Given the description of an element on the screen output the (x, y) to click on. 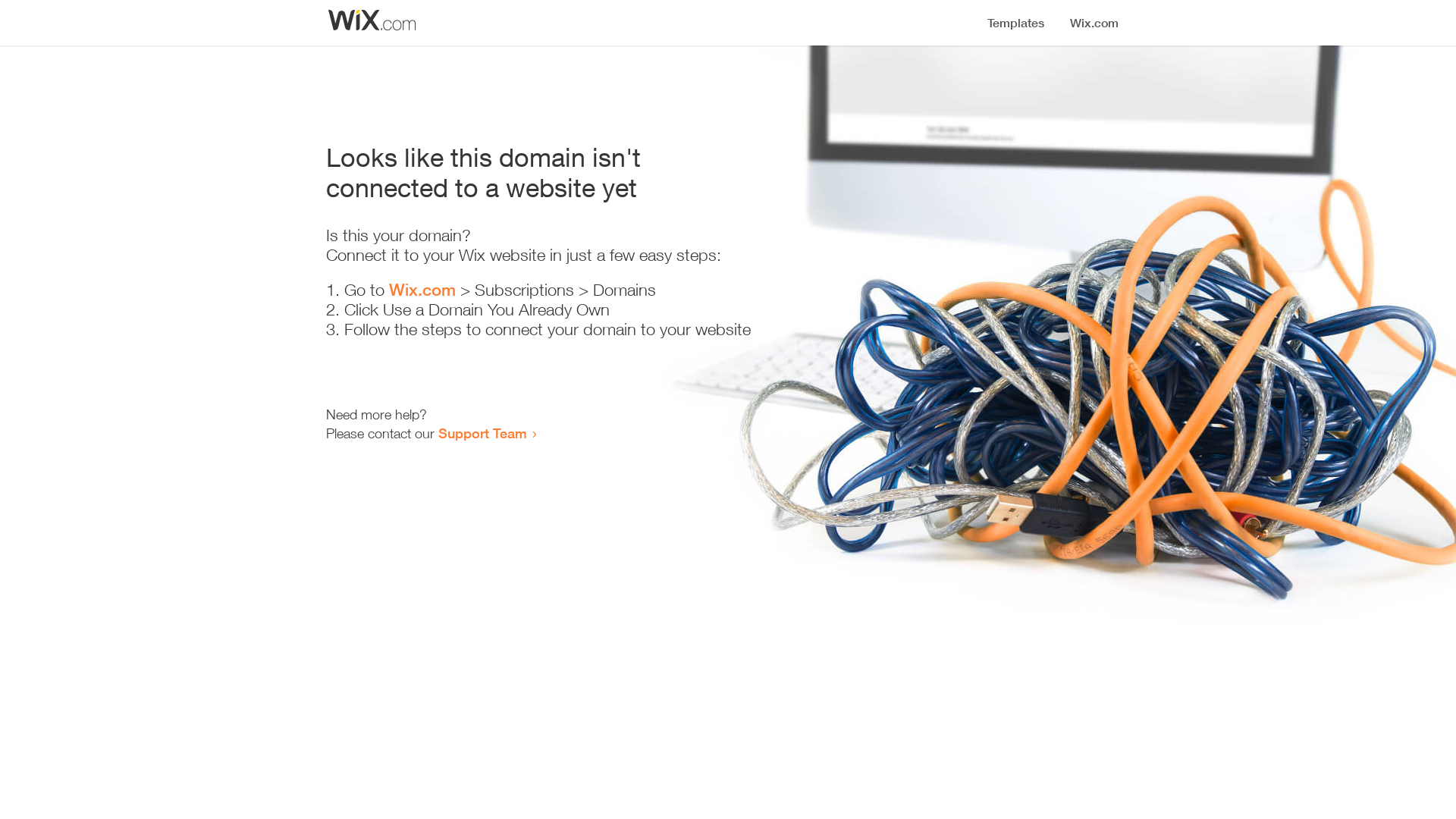
Support Team Element type: text (482, 432)
Wix.com Element type: text (422, 289)
